Given the description of an element on the screen output the (x, y) to click on. 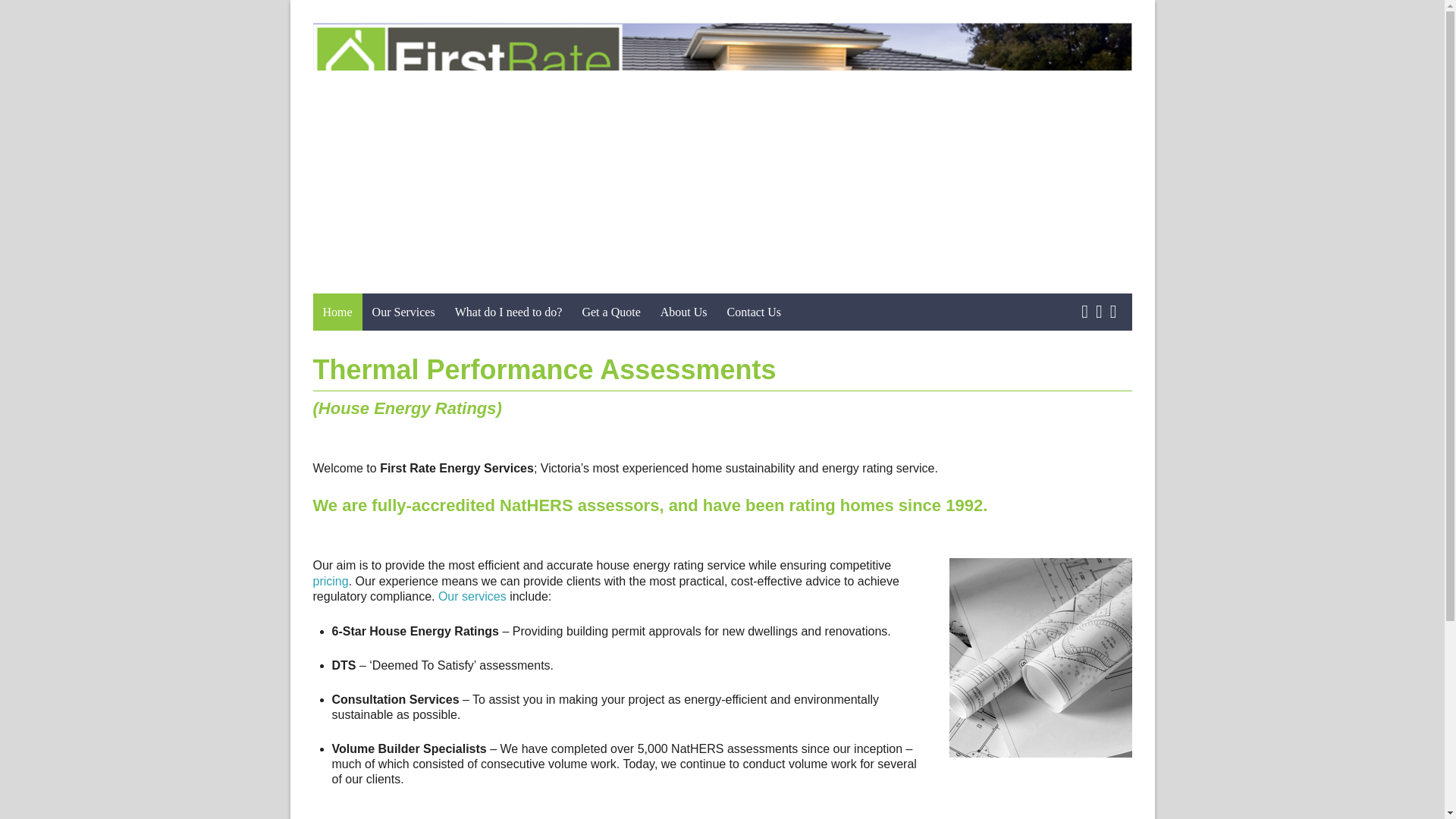
pricing (330, 581)
What do I need to do? (508, 311)
Contact Us (754, 311)
Home (337, 311)
Our Services (403, 311)
Our services (472, 595)
About Us (683, 311)
Get a Quote (610, 311)
